Given the description of an element on the screen output the (x, y) to click on. 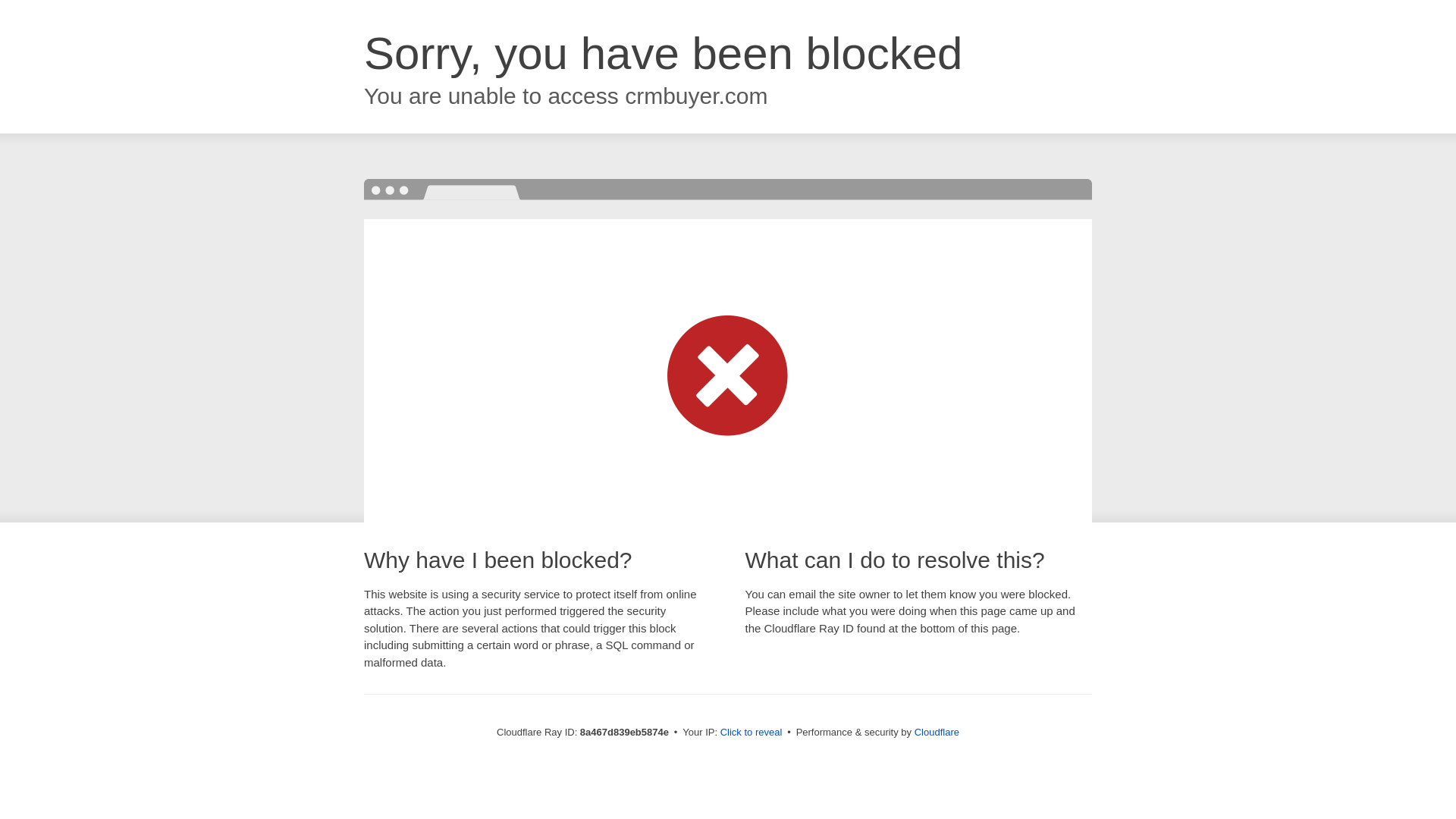
Click to reveal (751, 732)
Cloudflare (936, 731)
